Given the description of an element on the screen output the (x, y) to click on. 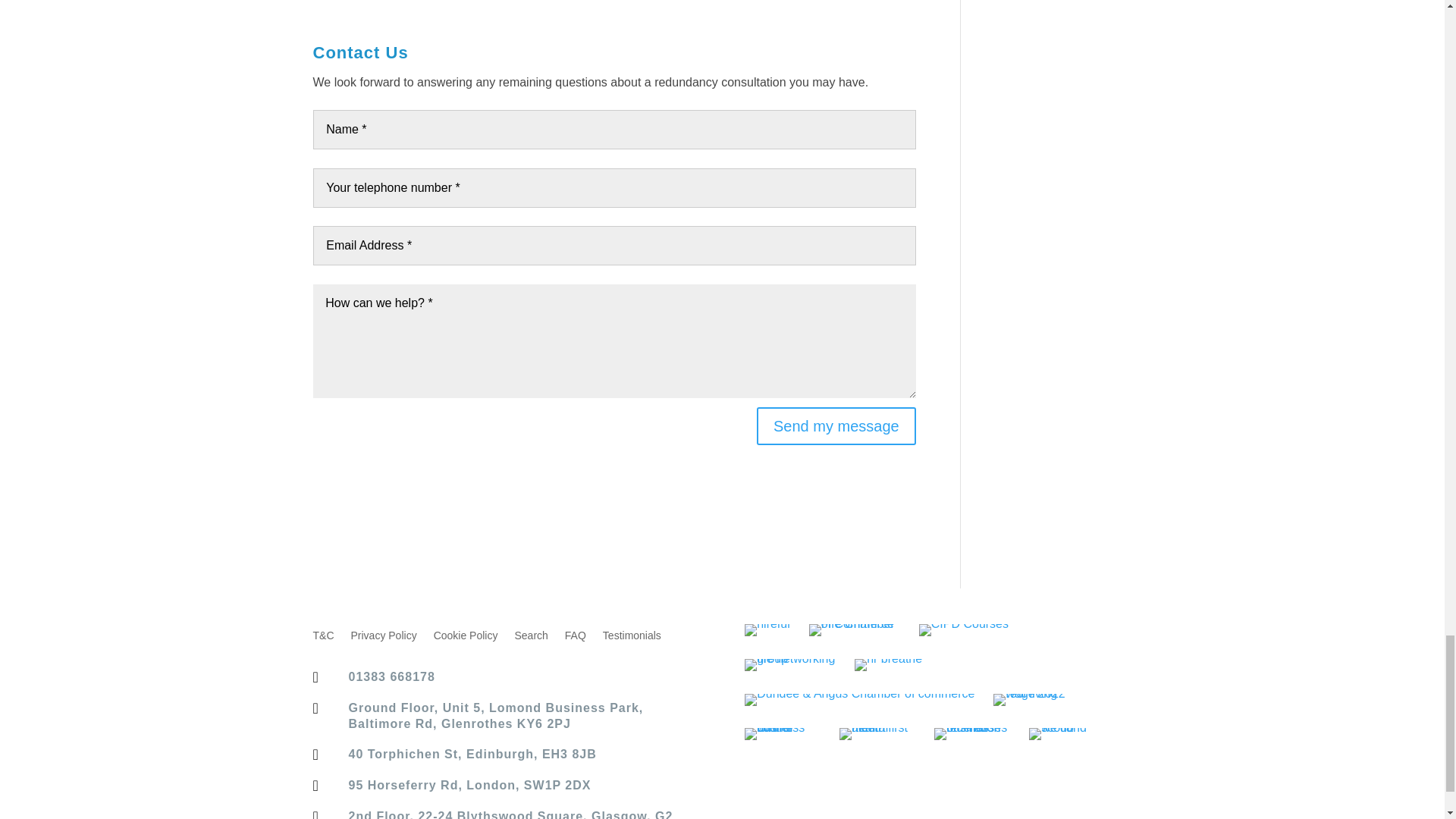
fife-chamber-of-commerce-logo (854, 630)
MHFA Badge (877, 734)
fife-networking (789, 664)
we do scotland (1067, 734)
Partner-Badge-GOLD-png-300x265 (887, 664)
download (767, 630)
Send my message (836, 426)
cipd-logo (963, 630)
Screenshot 2021-11-02 at 10.17.12 (782, 734)
